Given the description of an element on the screen output the (x, y) to click on. 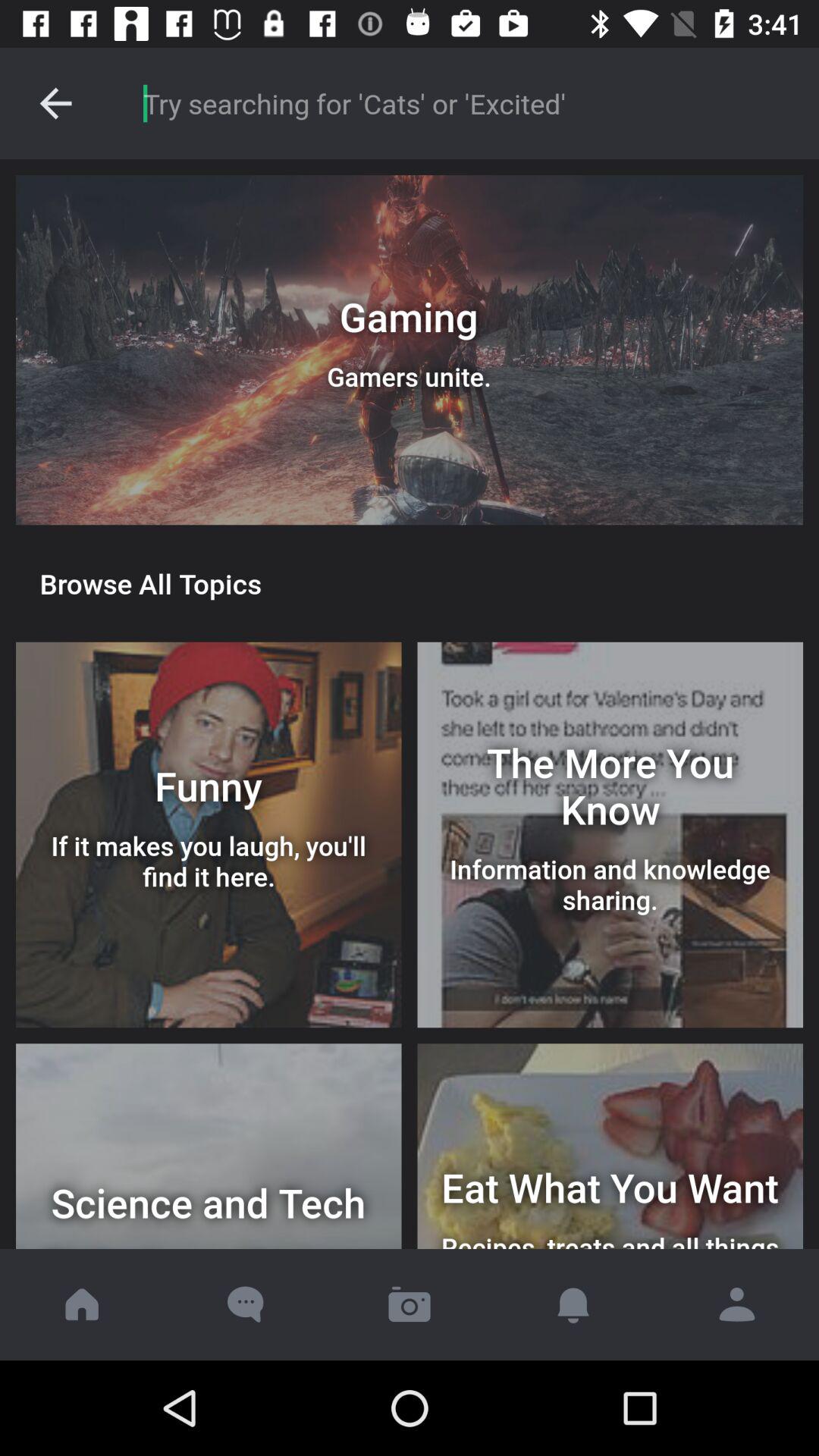
go back (55, 103)
